Given the description of an element on the screen output the (x, y) to click on. 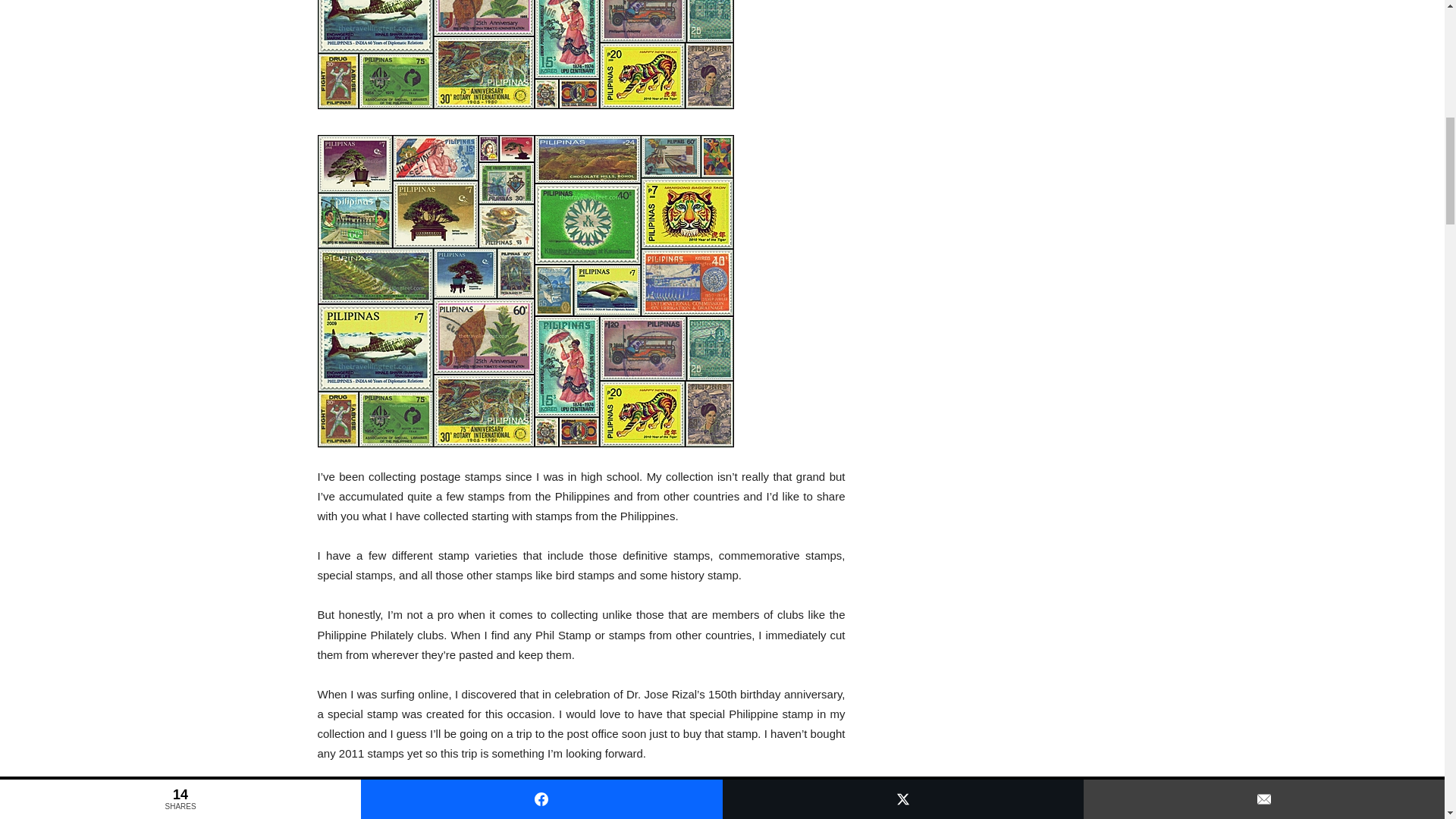
Philippine Stamps (525, 54)
